Given the description of an element on the screen output the (x, y) to click on. 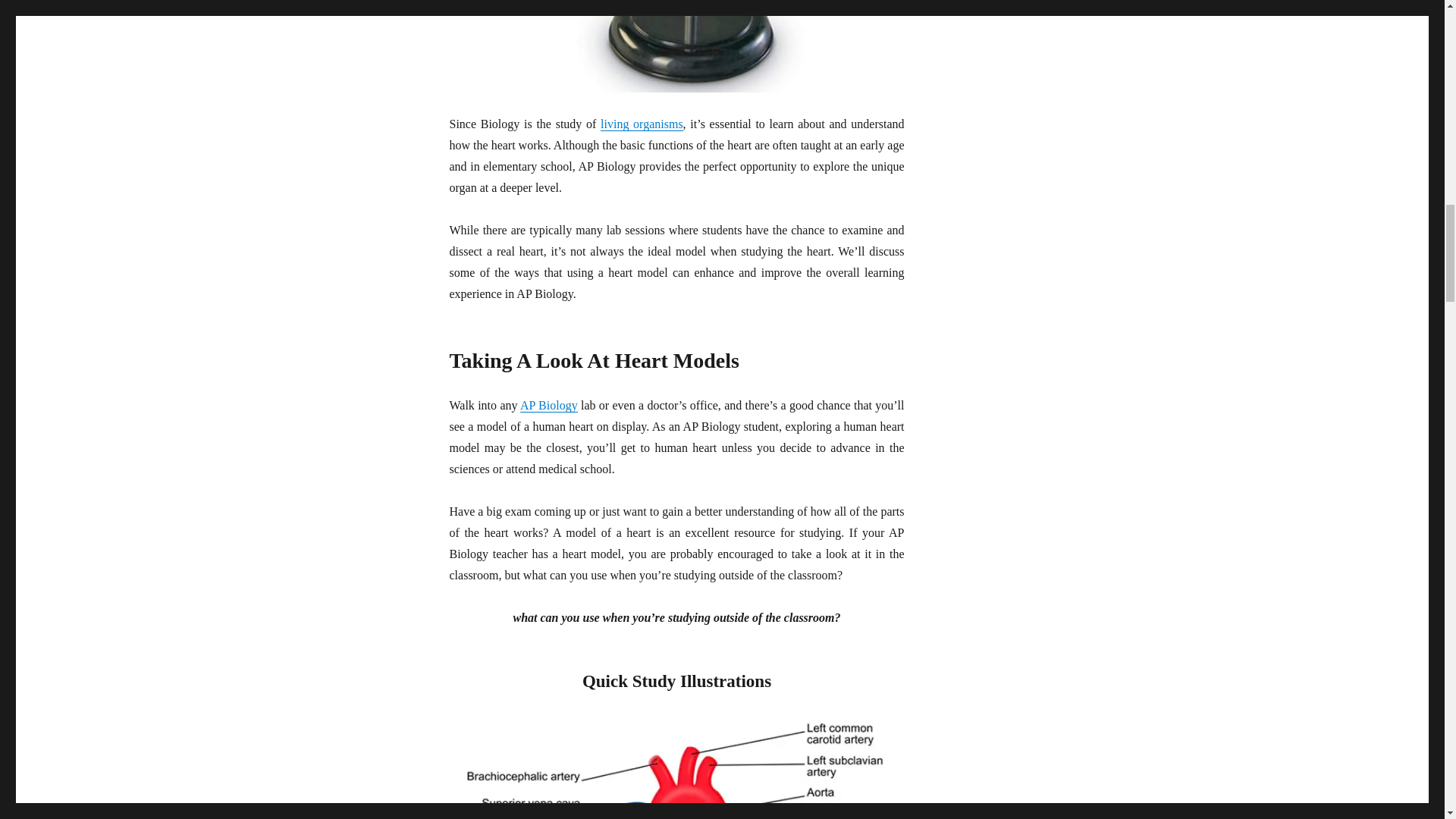
heart-model-500x500px.jpg (676, 46)
